Given the description of an element on the screen output the (x, y) to click on. 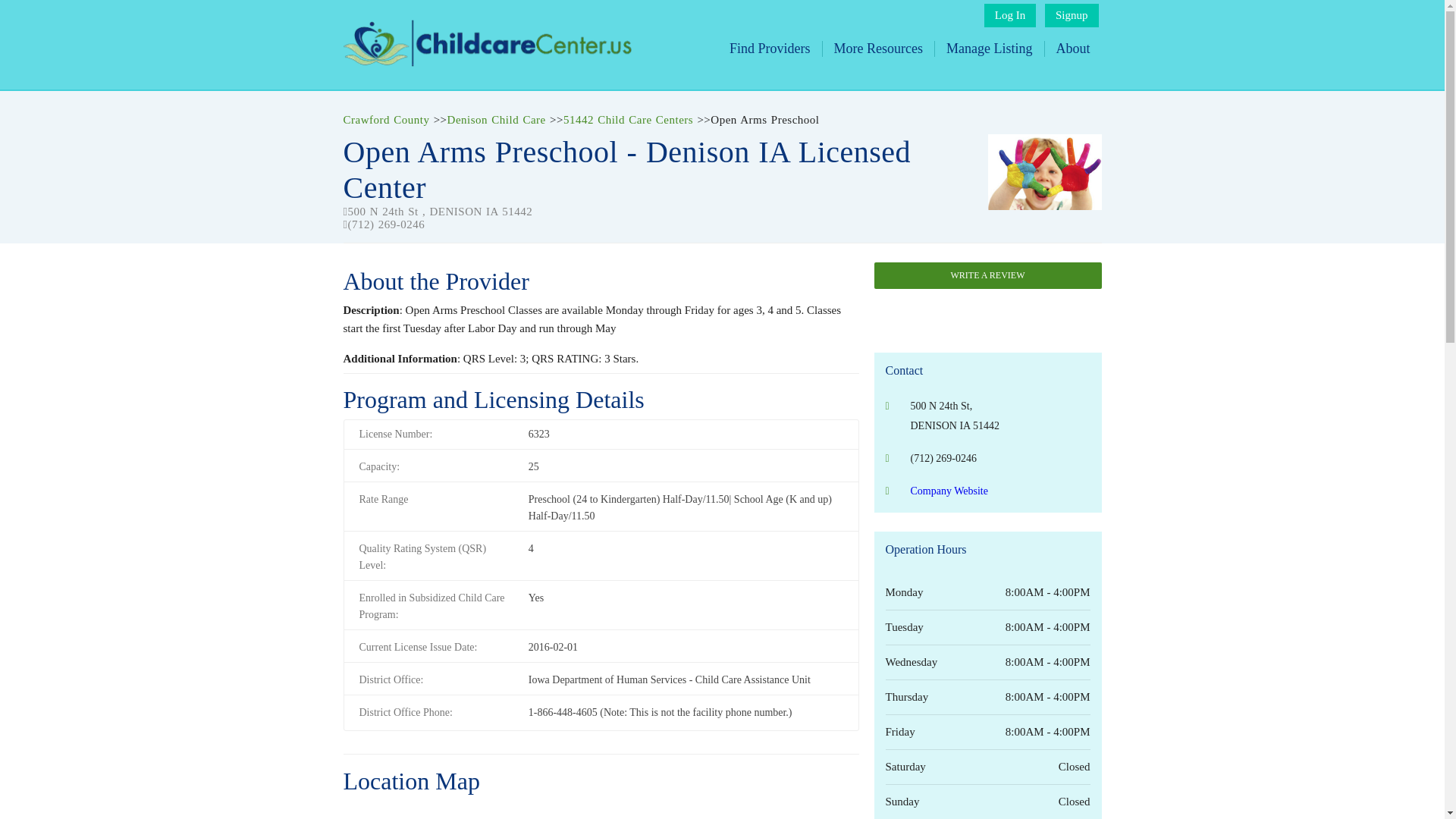
WRITE A REVIEW (986, 275)
Childcare Center, Preschools, and Home Daycare (486, 62)
Manage Listing (989, 48)
Log In (1009, 15)
About (1072, 48)
Signup (1072, 15)
Crawford County (385, 119)
Company Website (948, 490)
51442 Child Care Centers (628, 119)
Find Providers (769, 48)
Denison Child Care (496, 119)
More Resources (878, 48)
Log In (1009, 15)
